Given the description of an element on the screen output the (x, y) to click on. 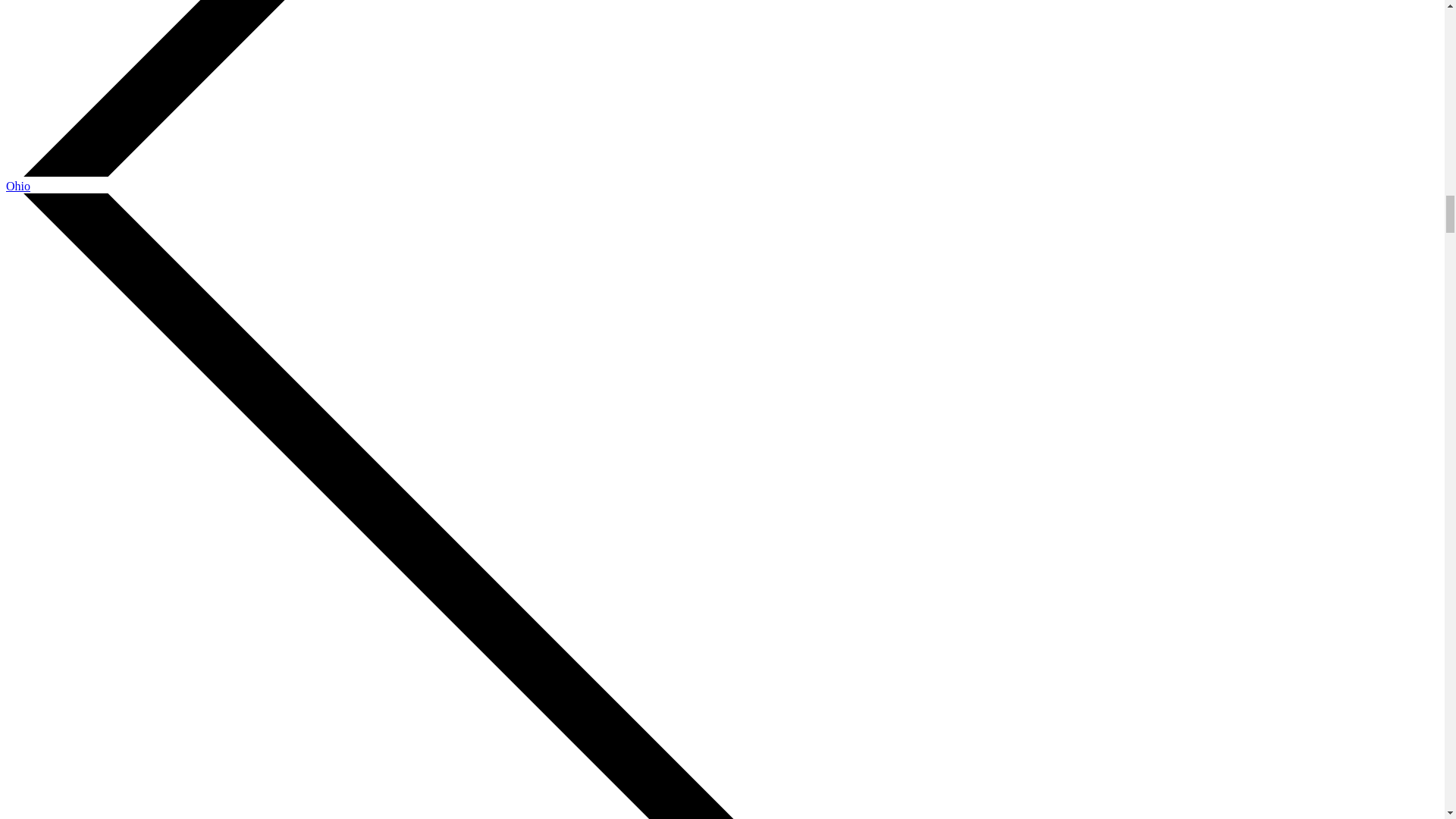
Ohio (17, 185)
